Given the description of an element on the screen output the (x, y) to click on. 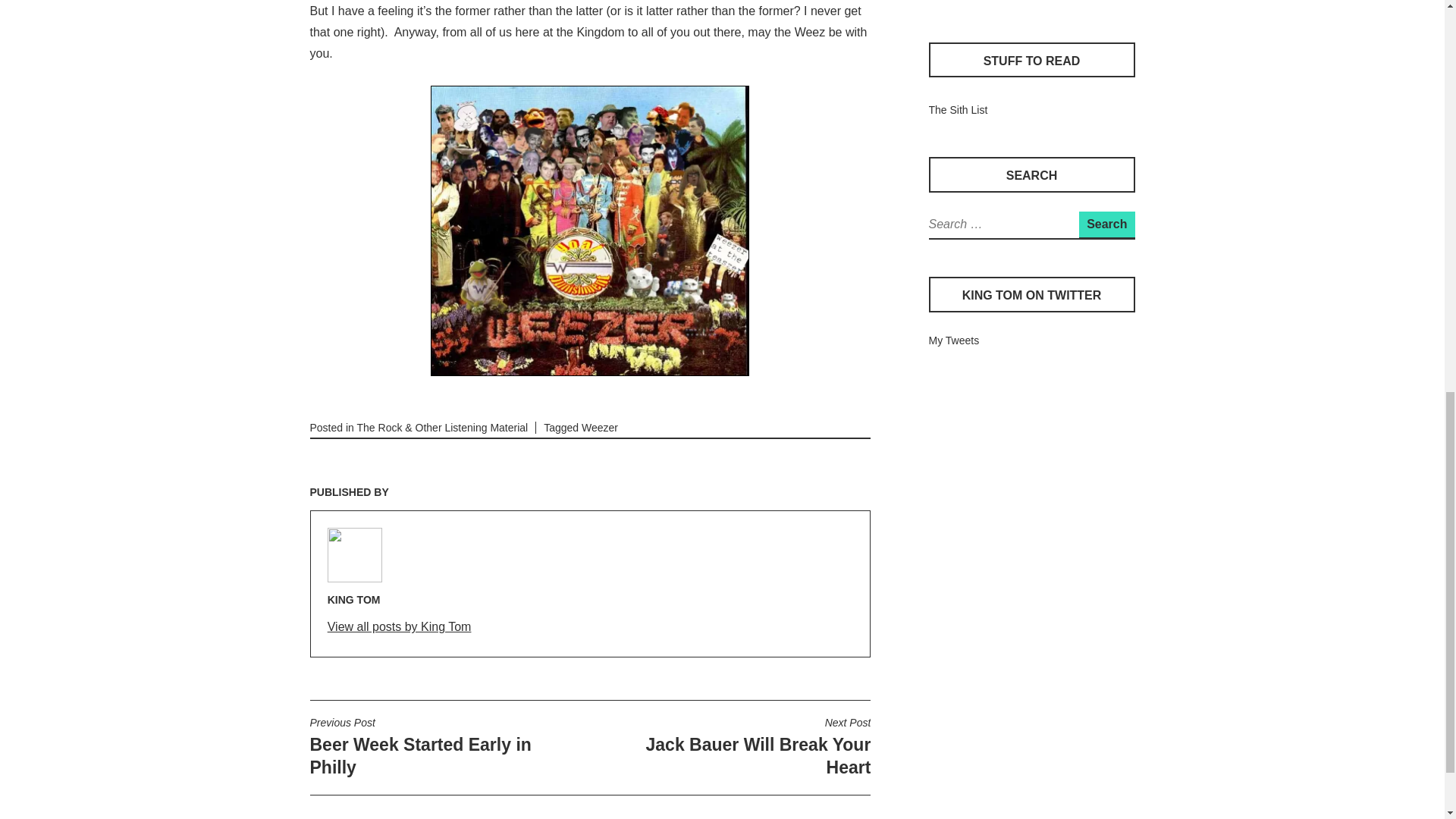
Search (1106, 224)
Weezer! (589, 230)
Weezer (945, 0)
View all posts by King Tom (399, 627)
The Sith List, Fool! (957, 110)
My Tweets (953, 340)
The Sith List (957, 110)
Search (1106, 224)
